Given the description of an element on the screen output the (x, y) to click on. 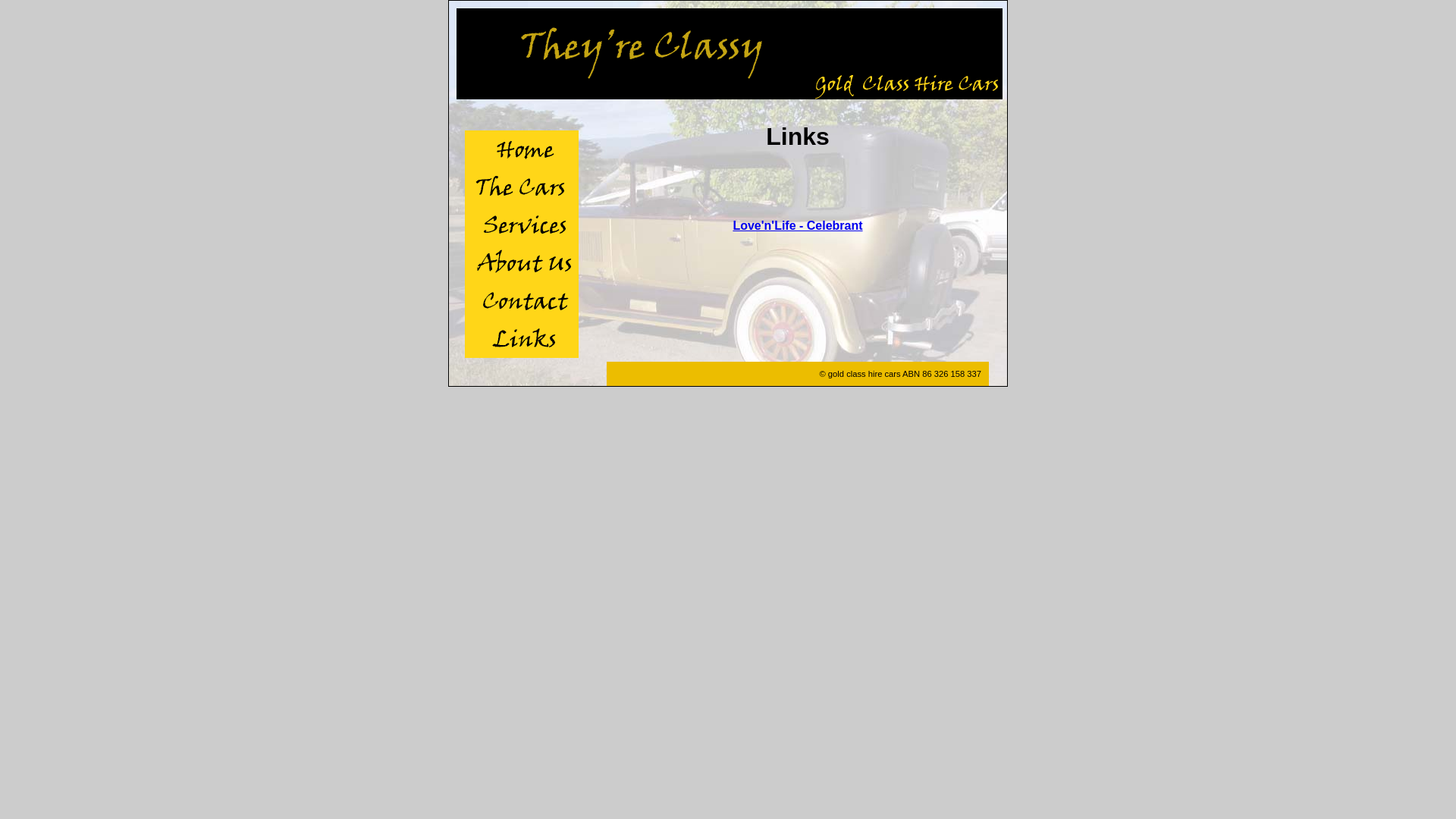
Love'n'Life - Celebrant Element type: text (797, 225)
